Given the description of an element on the screen output the (x, y) to click on. 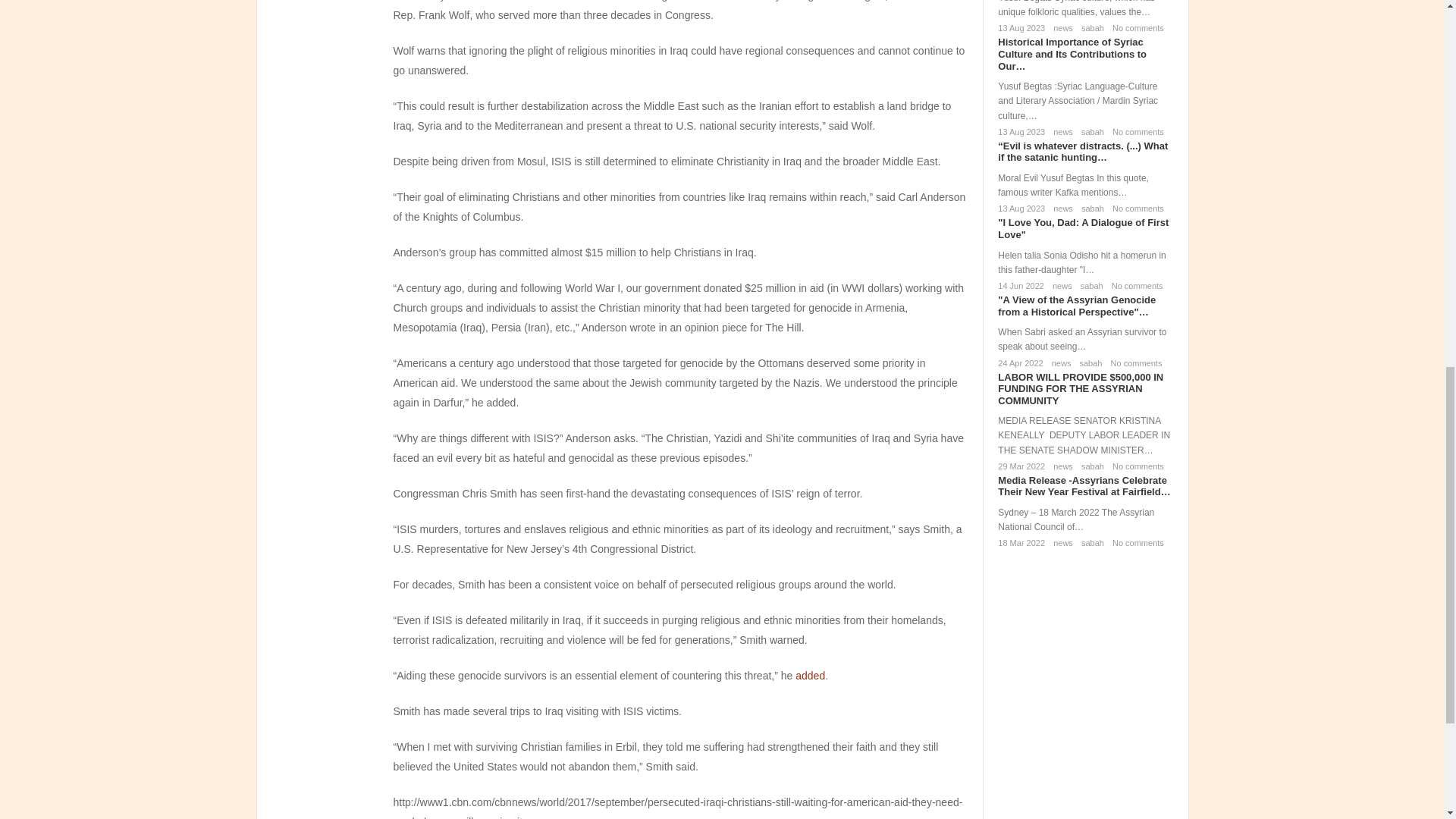
added (809, 675)
I Love You, Dad: A Dialogue of First Love (1083, 228)
